Given the description of an element on the screen output the (x, y) to click on. 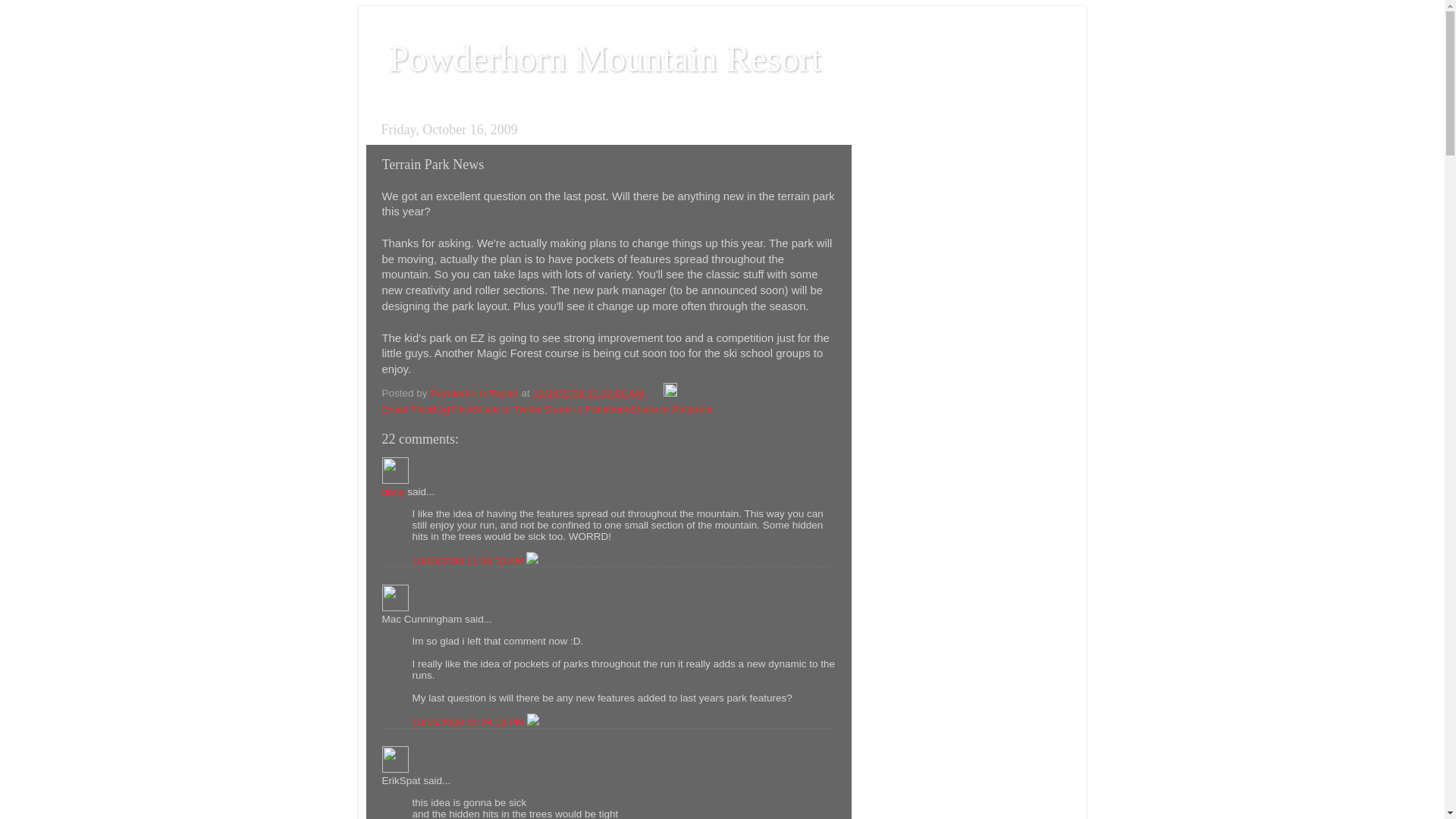
boop (395, 470)
BlogThis! (450, 408)
Edit Post (670, 392)
boop (392, 491)
Share to Twitter (507, 408)
BlogThis! (450, 408)
Powderhorn Mountain Resort (604, 58)
comment permalink (469, 722)
Delete Comment (531, 560)
permanent link (587, 392)
Share to Twitter (507, 408)
author profile (475, 392)
Delete Comment (532, 722)
Email This (405, 408)
Share to Pinterest (670, 408)
